Given the description of an element on the screen output the (x, y) to click on. 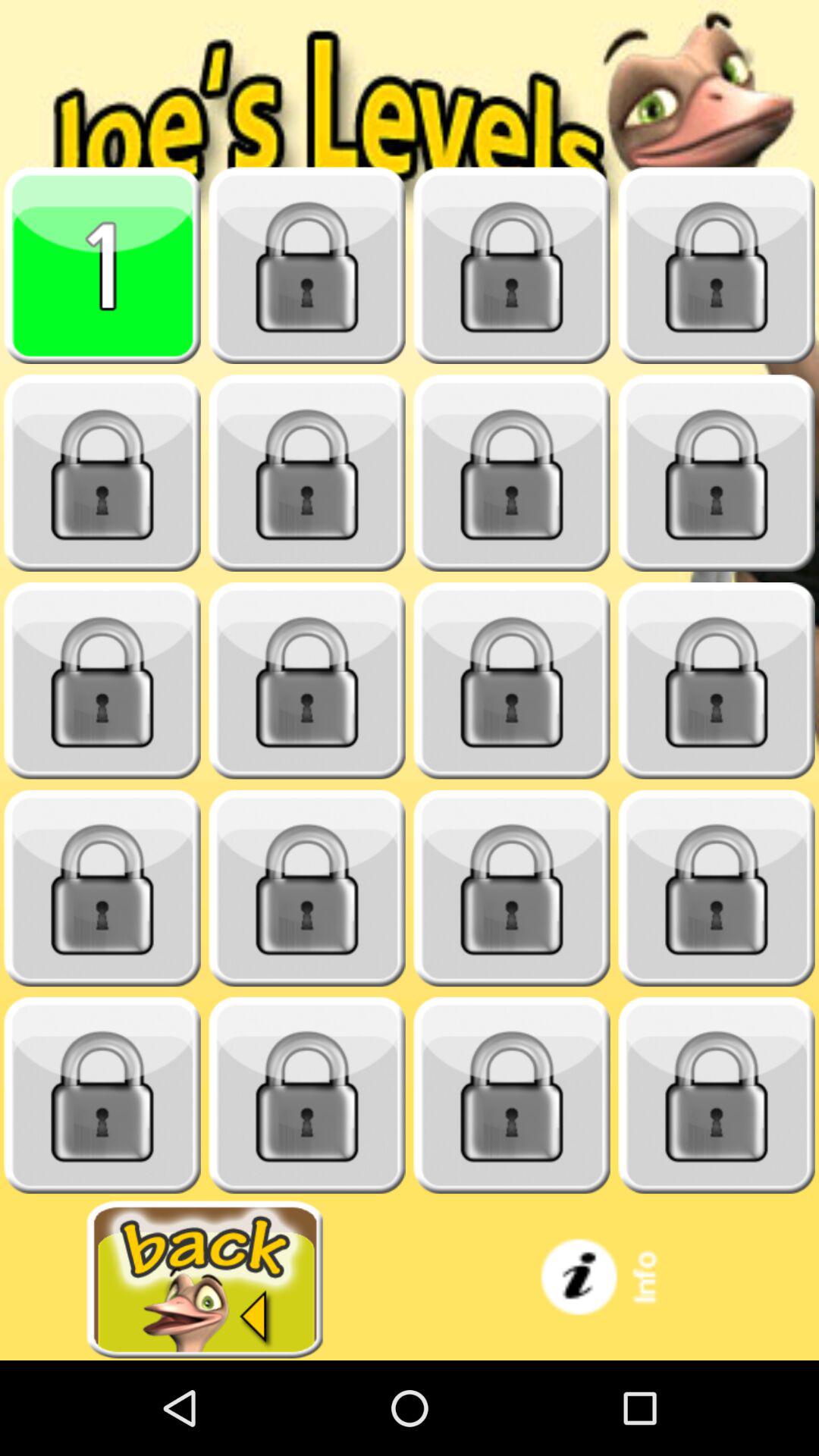
lock button (716, 265)
